Given the description of an element on the screen output the (x, y) to click on. 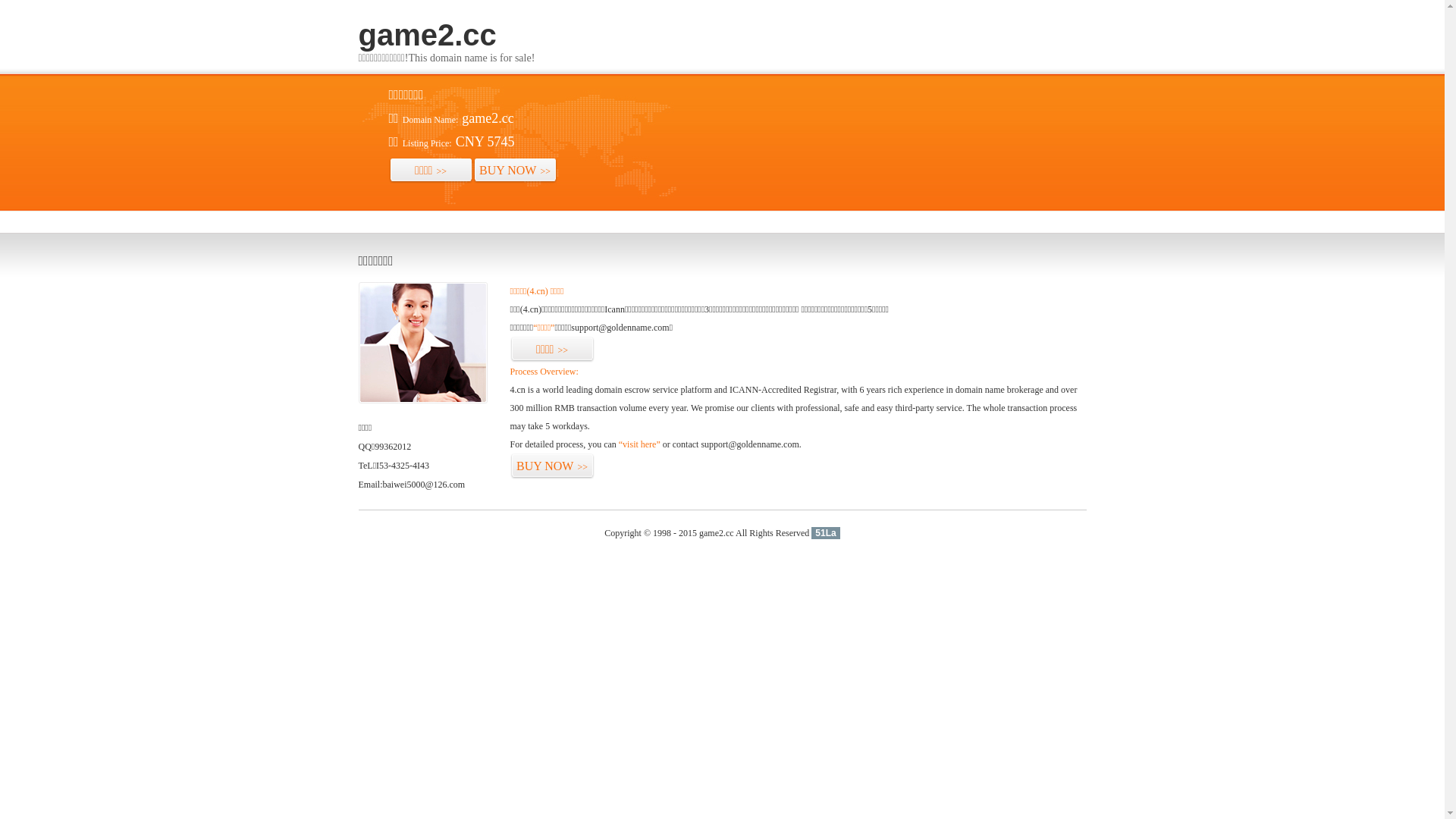
BUY NOW>> Element type: text (551, 466)
BUY NOW>> Element type: text (515, 170)
51La Element type: text (825, 532)
